Given the description of an element on the screen output the (x, y) to click on. 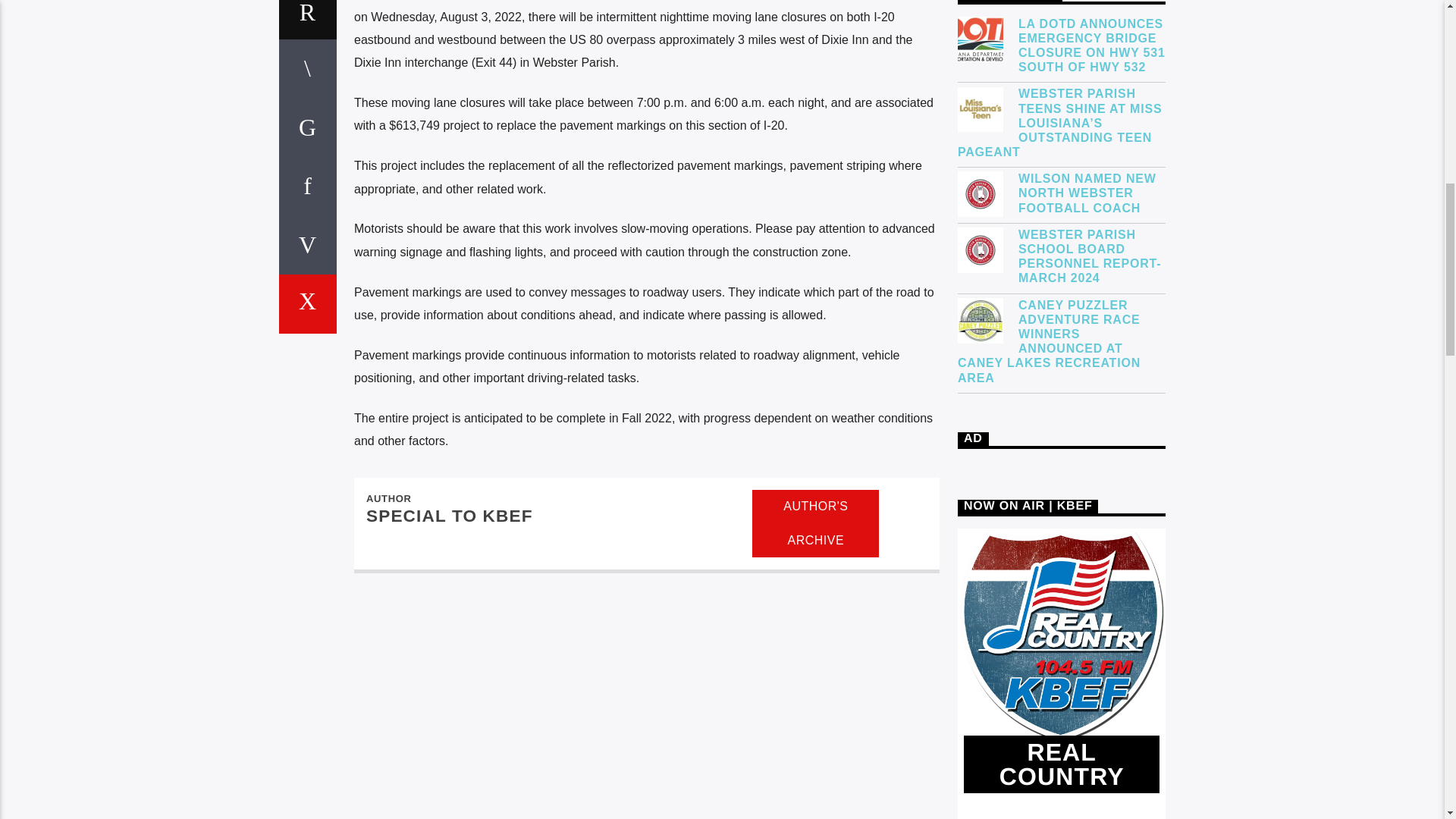
AUTHOR'S ARCHIVE (815, 523)
SPECIAL TO KBEF (449, 515)
